Given the description of an element on the screen output the (x, y) to click on. 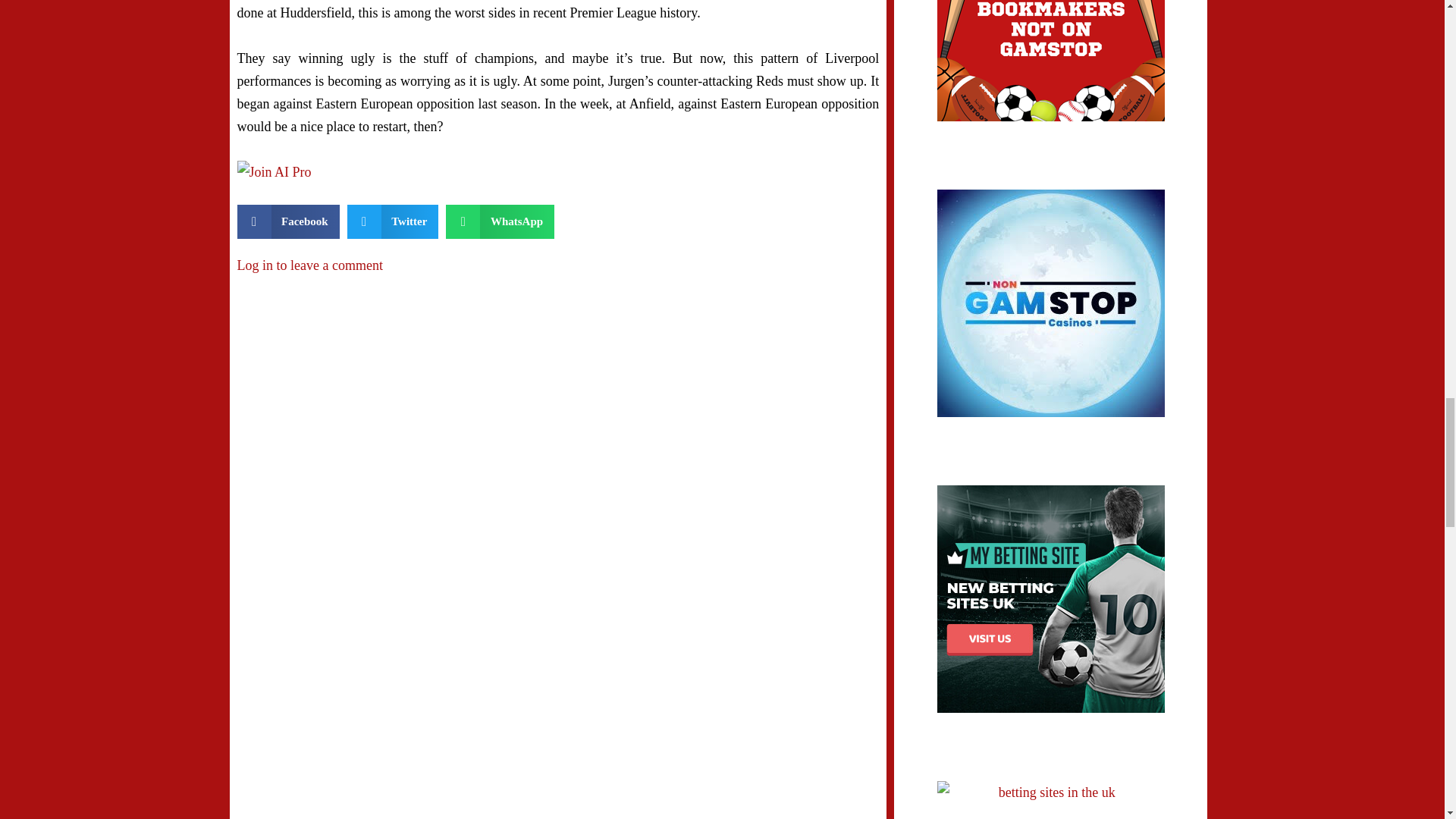
NonGamstopCasinos.net (1050, 60)
Betting sites (1050, 800)
NonGamstopCasinos.net (1050, 302)
New UK Betting sites (1050, 598)
